Given the description of an element on the screen output the (x, y) to click on. 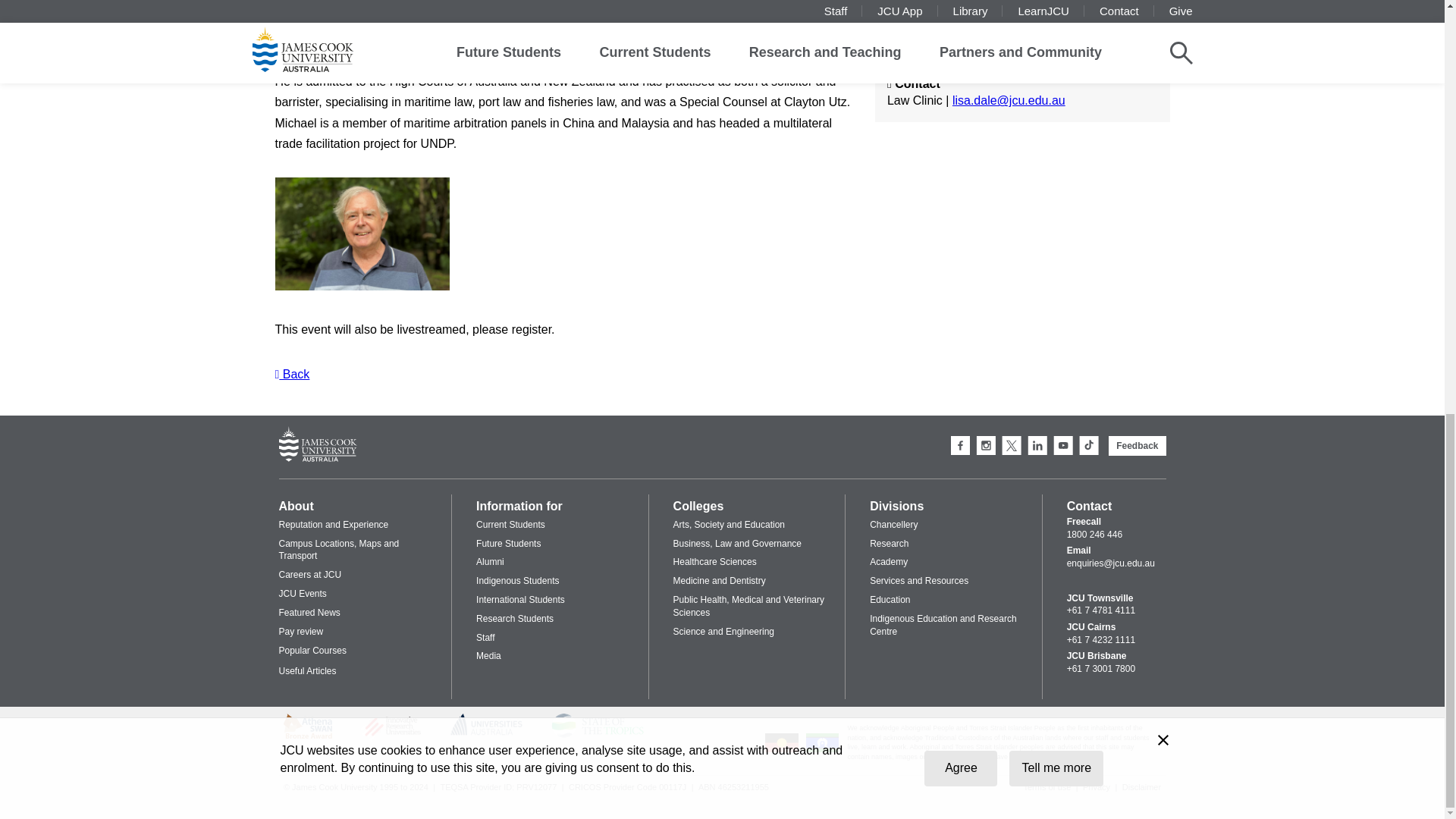
State of the tropics (598, 735)
Go to Indigenous Education and Research Centre (781, 750)
Go to JCU LinkedIn (1036, 445)
Go to JCU home page (317, 445)
Go to JCU Youtube (1062, 445)
Athena SWAN Bronze Award (308, 736)
Universities Australia (486, 733)
Go to Indigenous Education and Research Centre (823, 750)
JCU feedback (1137, 445)
Go to JCU Facebook (959, 445)
Innovative Research Universities (391, 739)
Go to JCU Twitter (1011, 445)
Go to JCU TikTok (1088, 445)
Go to JCU Instagram (985, 445)
